Given the description of an element on the screen output the (x, y) to click on. 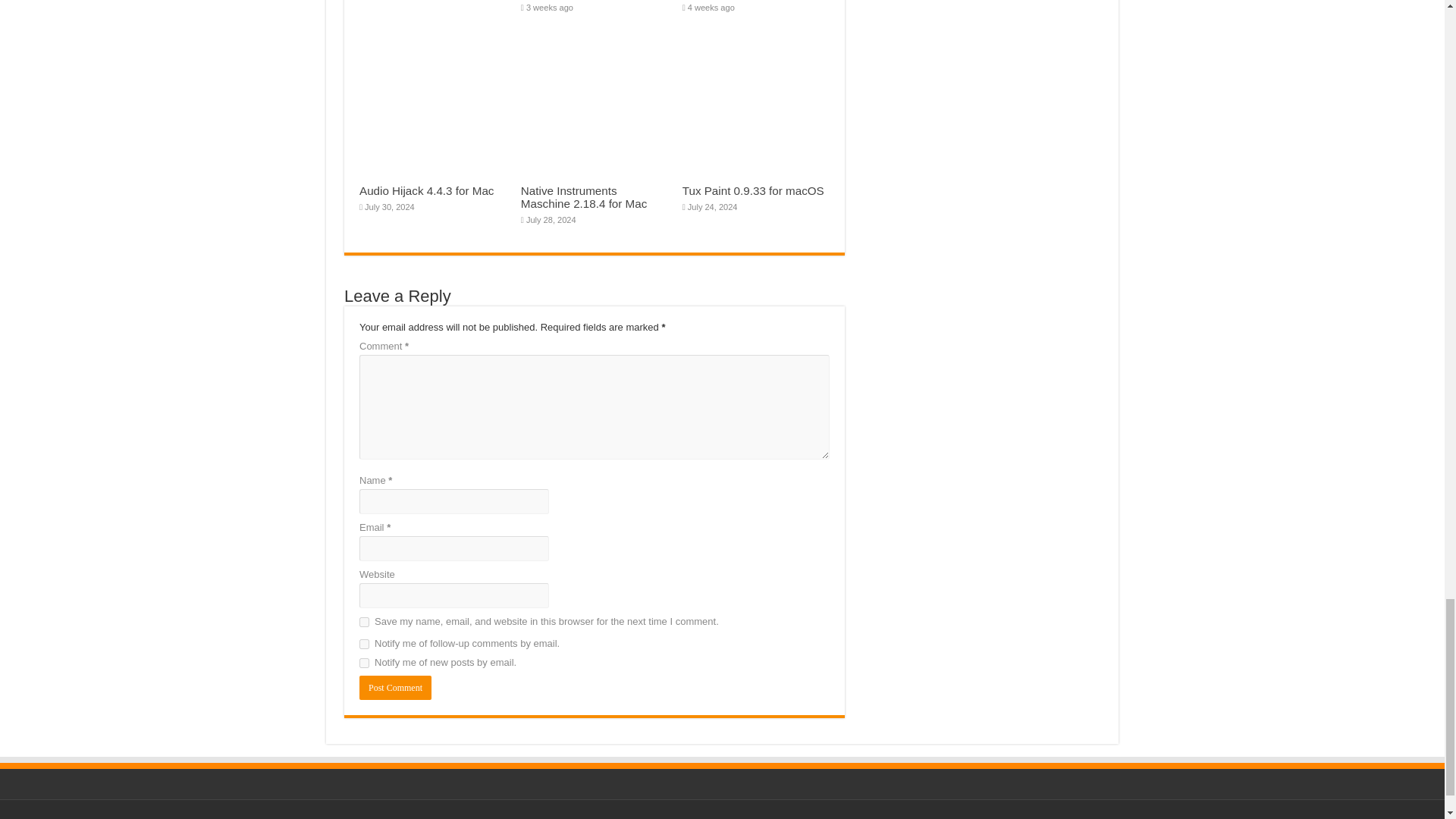
Post Comment (394, 687)
subscribe (364, 644)
yes (364, 622)
subscribe (364, 663)
